Given the description of an element on the screen output the (x, y) to click on. 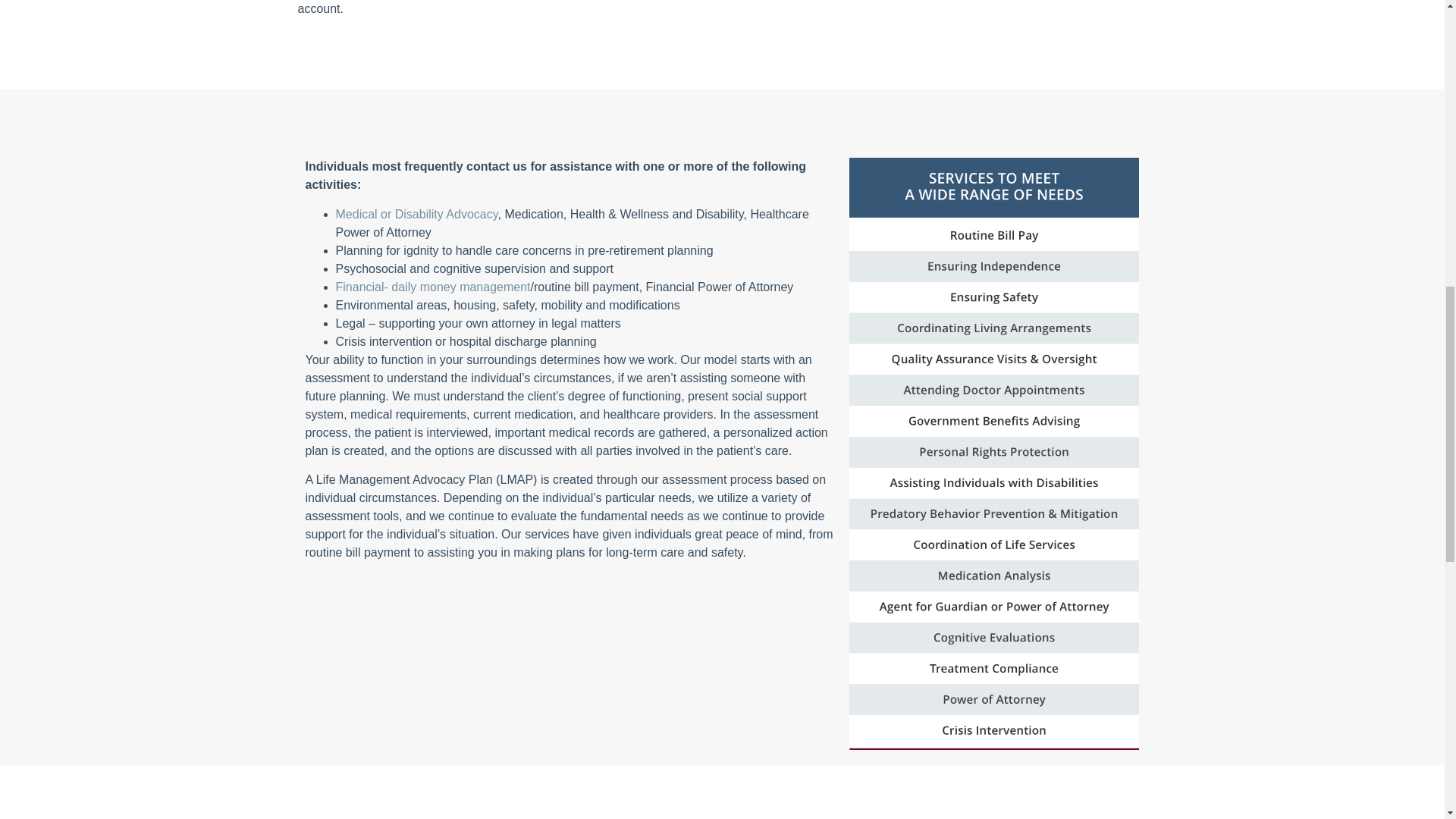
Financial- daily money management (431, 286)
Medical or Disability Advocacy (415, 214)
